Given the description of an element on the screen output the (x, y) to click on. 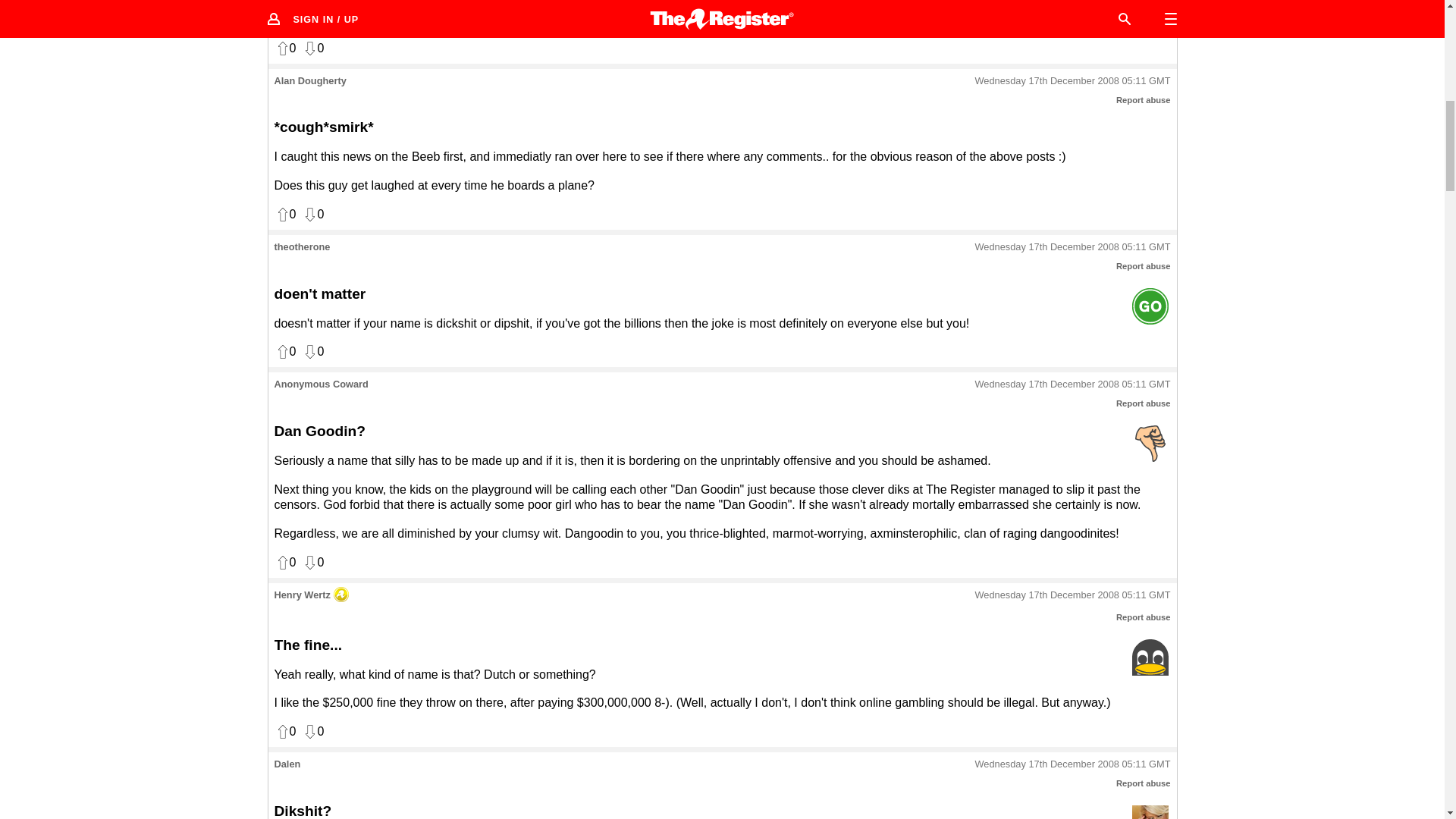
Report abuse (1143, 402)
Report abuse (1143, 616)
Report abuse (1143, 266)
Report abuse (1143, 99)
Report abuse (1143, 782)
